Given the description of an element on the screen output the (x, y) to click on. 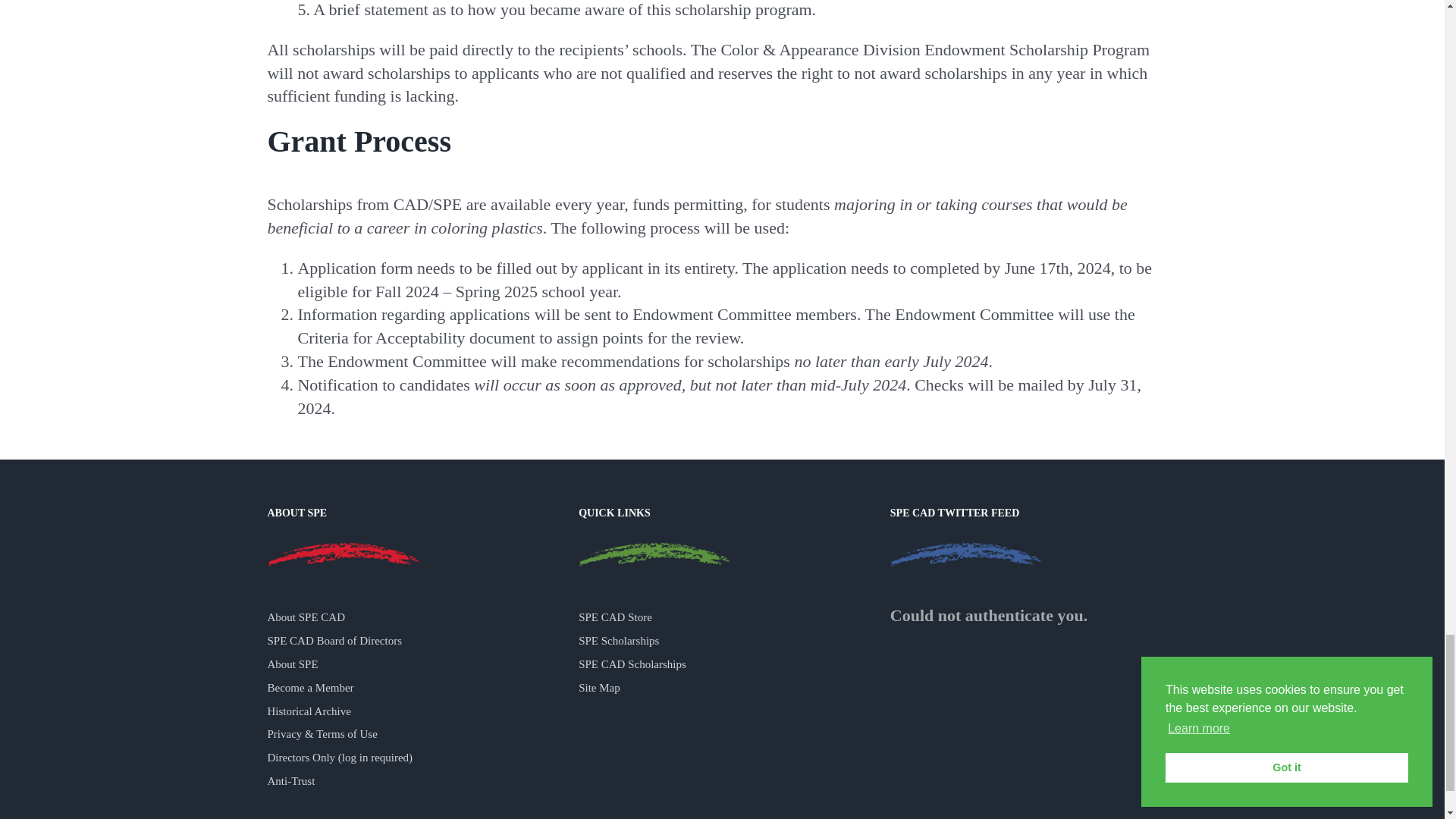
About SPE (342, 554)
